Given the description of an element on the screen output the (x, y) to click on. 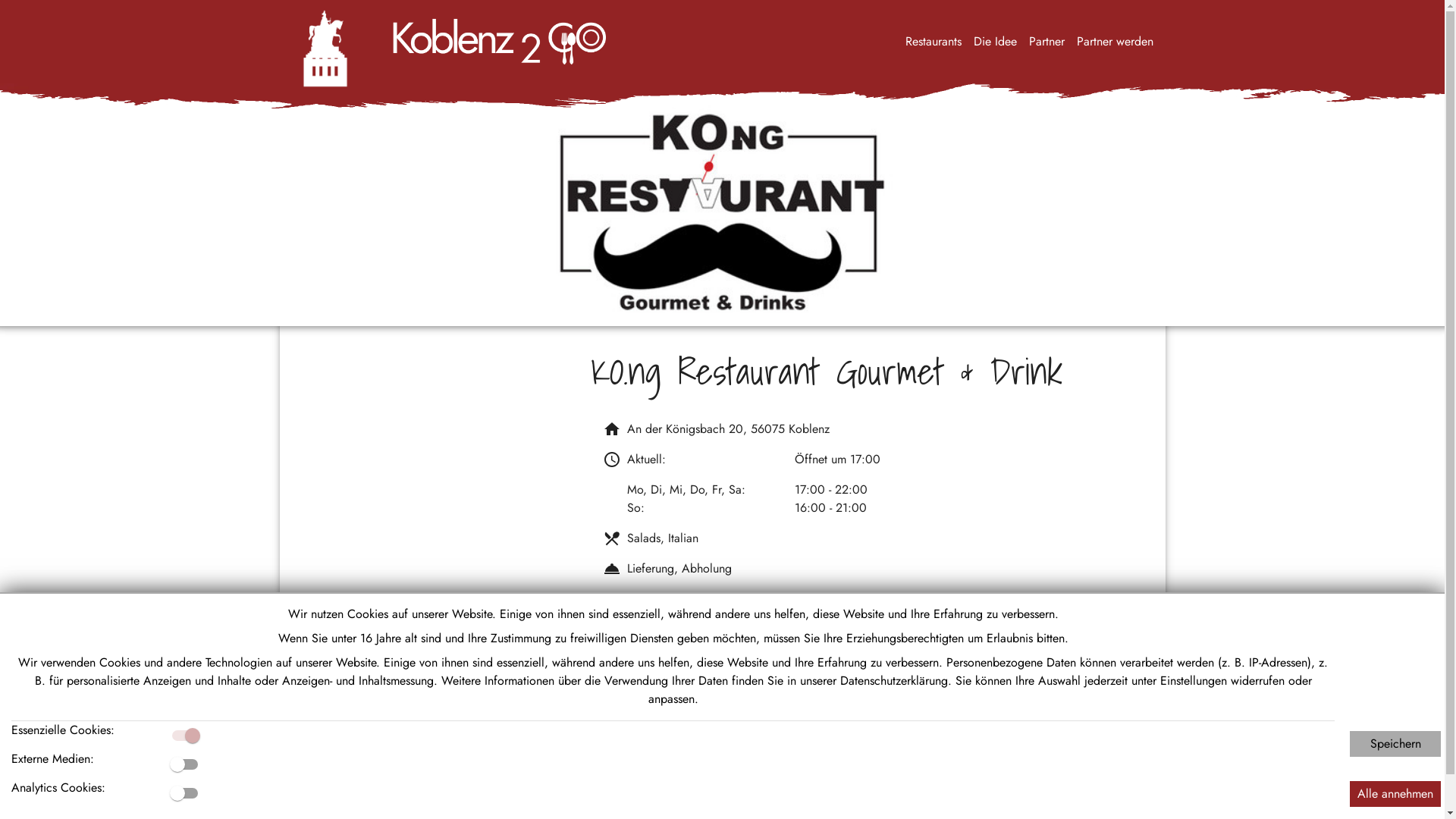
JETZT VORBESTELLEN Element type: text (655, 610)
Partner werden Element type: text (1114, 41)
Partner werden Element type: text (179, 784)
Datenschutz Element type: text (1310, 784)
Impressum Element type: text (1379, 784)
Die Idee Element type: text (59, 784)
Partner Element type: text (110, 784)
Alle annehmen Element type: text (1394, 793)
Speichern Element type: text (1394, 743)
Restaurants Element type: text (933, 41)
Die Idee Element type: text (994, 41)
Partner Element type: text (1045, 41)
